Given the description of an element on the screen output the (x, y) to click on. 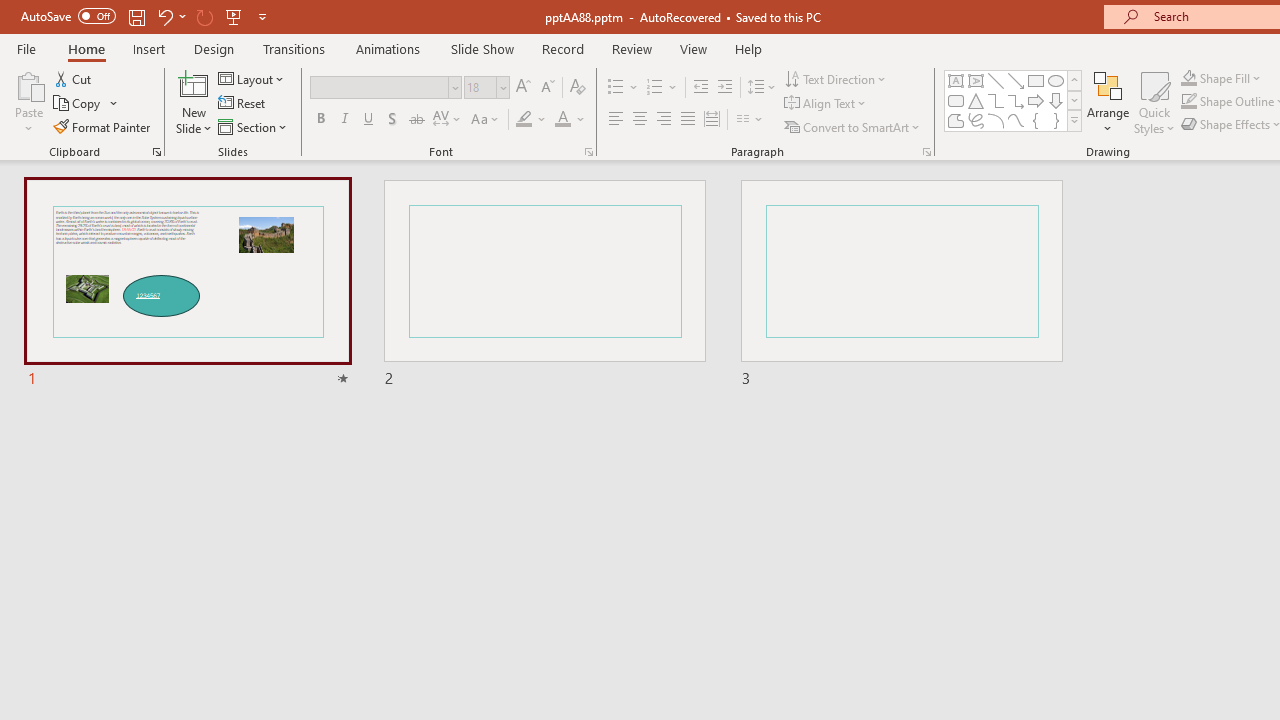
Decrease Indent (700, 87)
Align Text (826, 103)
Numbering (661, 87)
Font (385, 87)
Font Color (569, 119)
Character Spacing (447, 119)
Freeform: Shape (955, 120)
Shadow (392, 119)
Open (502, 87)
Font Color Red (562, 119)
Paste (28, 84)
Row Down (1074, 100)
Line Arrow (1016, 80)
Center (639, 119)
